Given the description of an element on the screen output the (x, y) to click on. 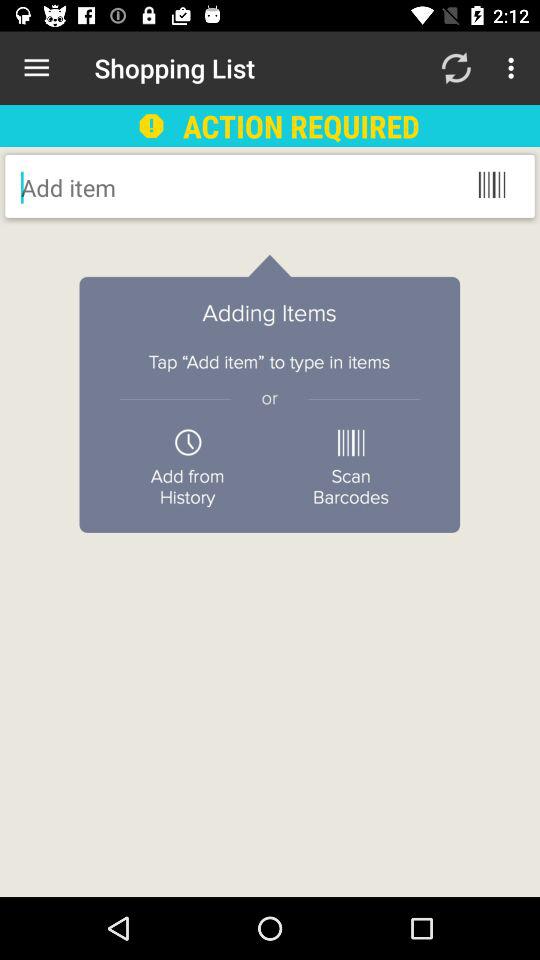
type in items (181, 187)
